Given the description of an element on the screen output the (x, y) to click on. 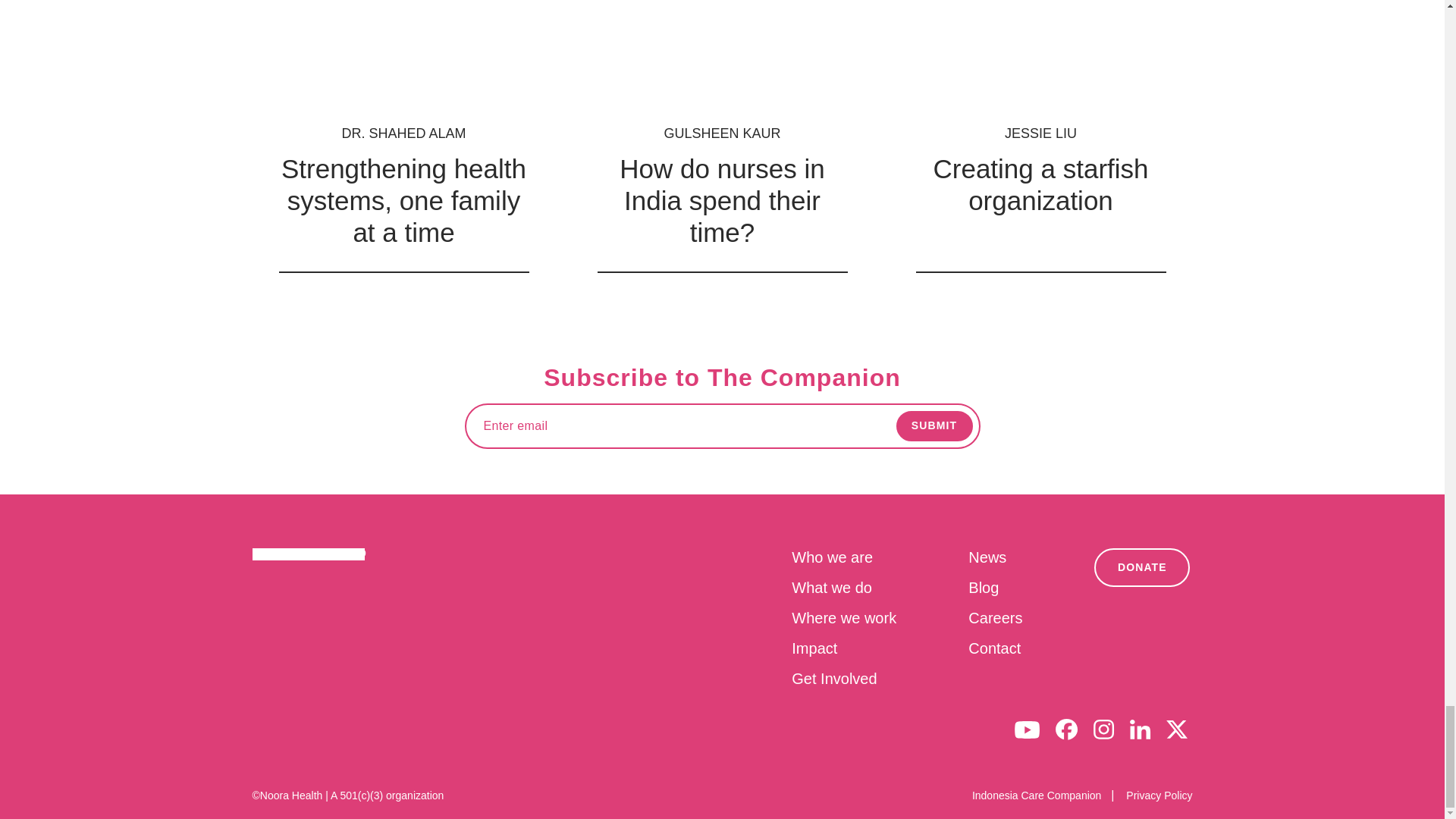
SUBMIT (934, 425)
